Given the description of an element on the screen output the (x, y) to click on. 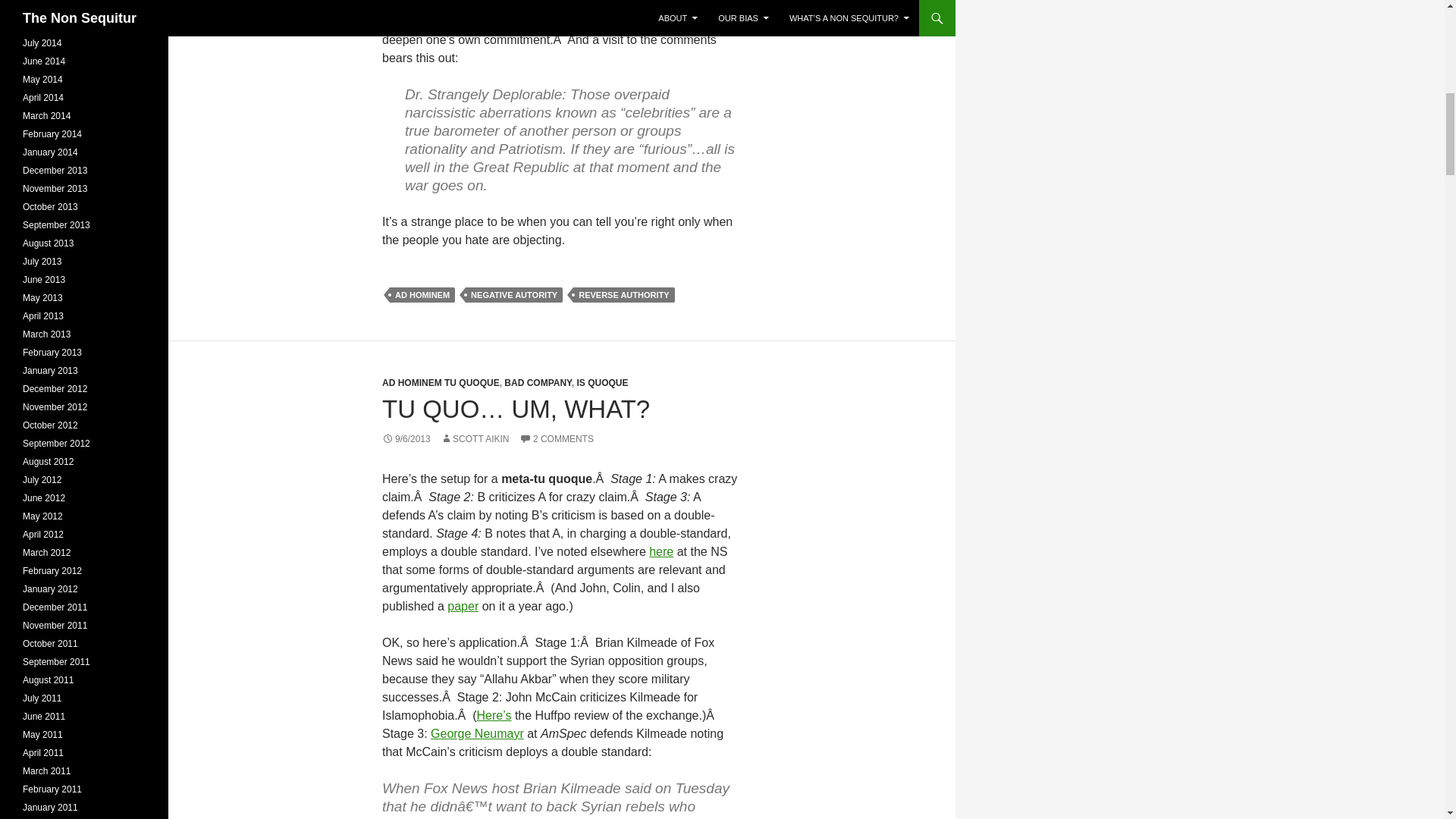
AD HOMINEM TU QUOQUE (440, 382)
paper (462, 605)
here (660, 551)
NEGATIVE AUTORITY (513, 294)
SCOTT AIKIN (474, 439)
IS QUOQUE (601, 382)
BAD COMPANY (536, 382)
2 COMMENTS (556, 439)
AD HOMINEM (422, 294)
George Neumayr (477, 733)
REVERSE AUTHORITY (623, 294)
